Given the description of an element on the screen output the (x, y) to click on. 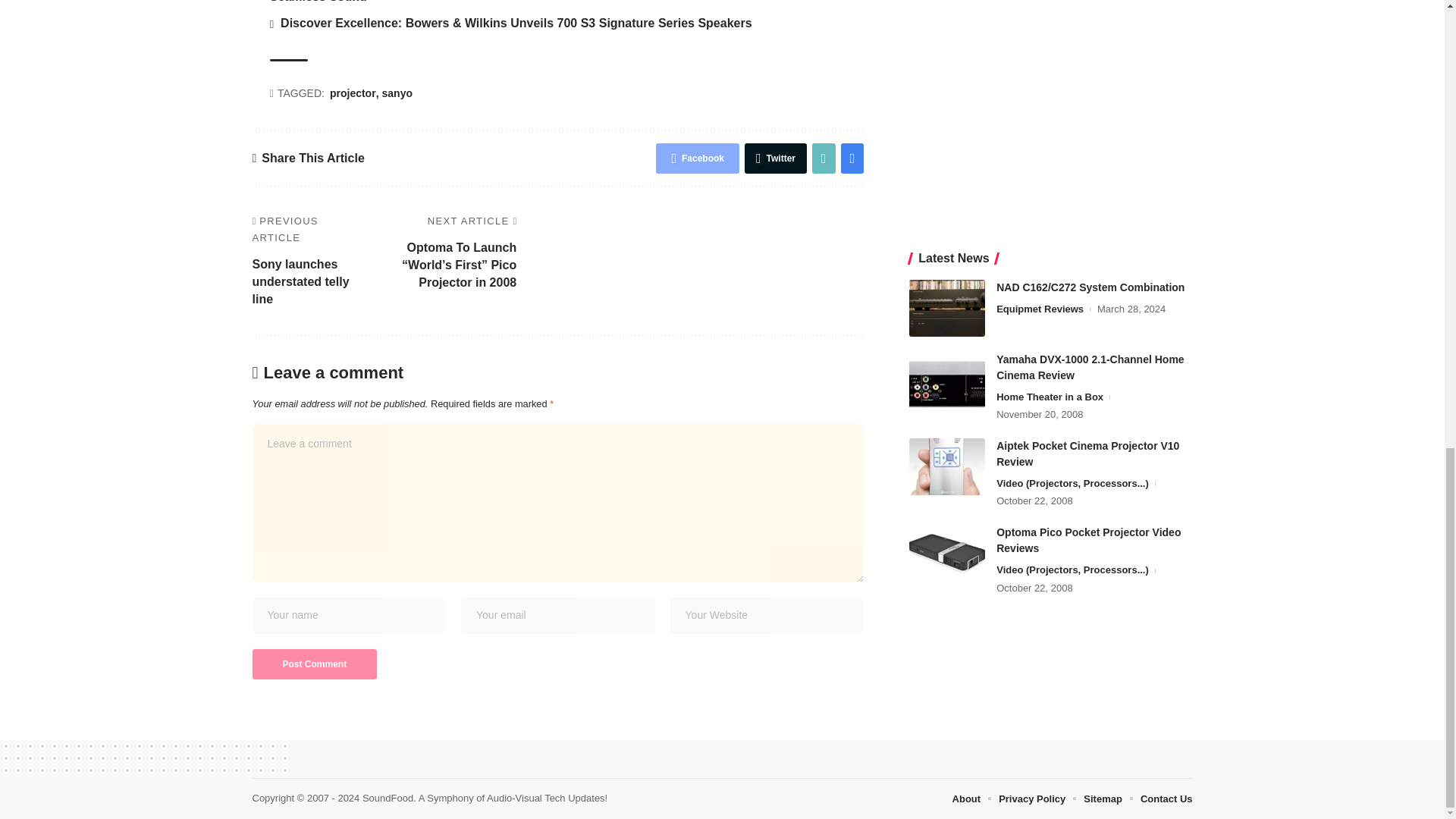
Sitemap (1102, 798)
Post Comment (314, 664)
